Given the description of an element on the screen output the (x, y) to click on. 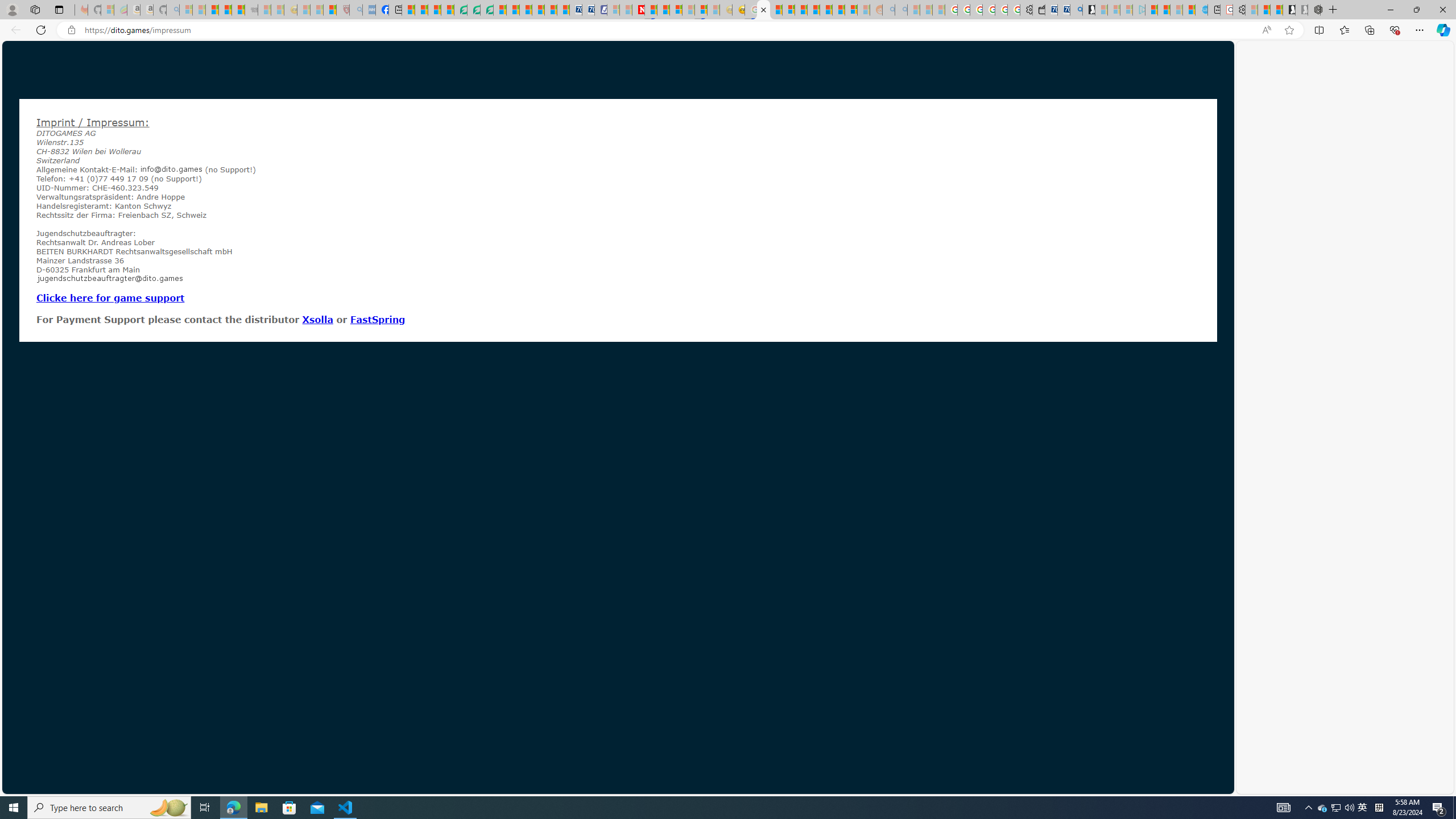
World - MSN (434, 9)
Latest Politics News & Archive | Newsweek.com (638, 9)
